Given the description of an element on the screen output the (x, y) to click on. 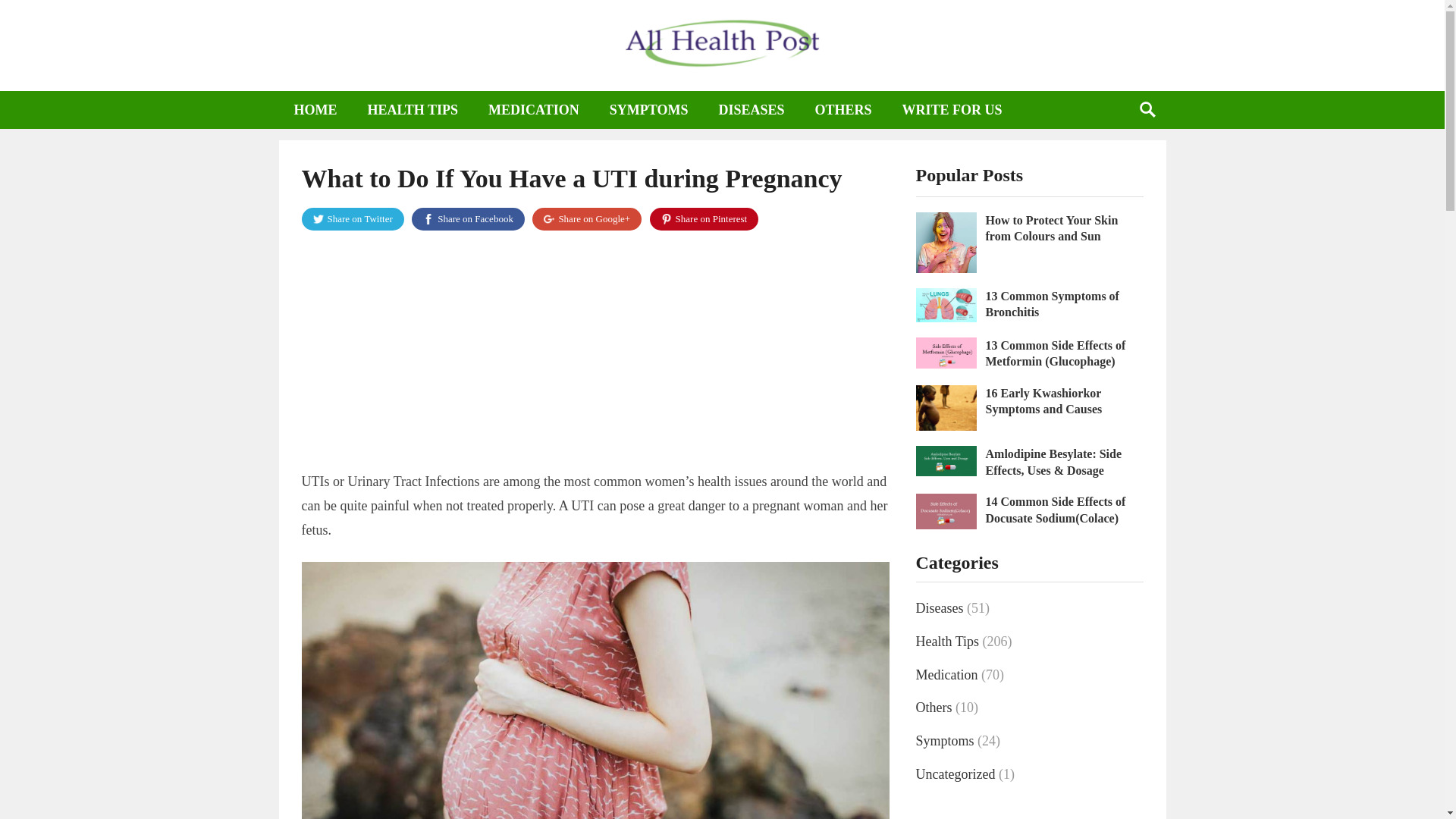
Advertisement (595, 354)
OTHERS (842, 109)
Share on Pinterest (703, 219)
Share on Twitter (352, 219)
Share on Facebook (468, 219)
HOME (315, 109)
HEALTH TIPS (412, 109)
SYMPTOMS (648, 109)
MEDICATION (533, 109)
WRITE FOR US (951, 109)
